Given the description of an element on the screen output the (x, y) to click on. 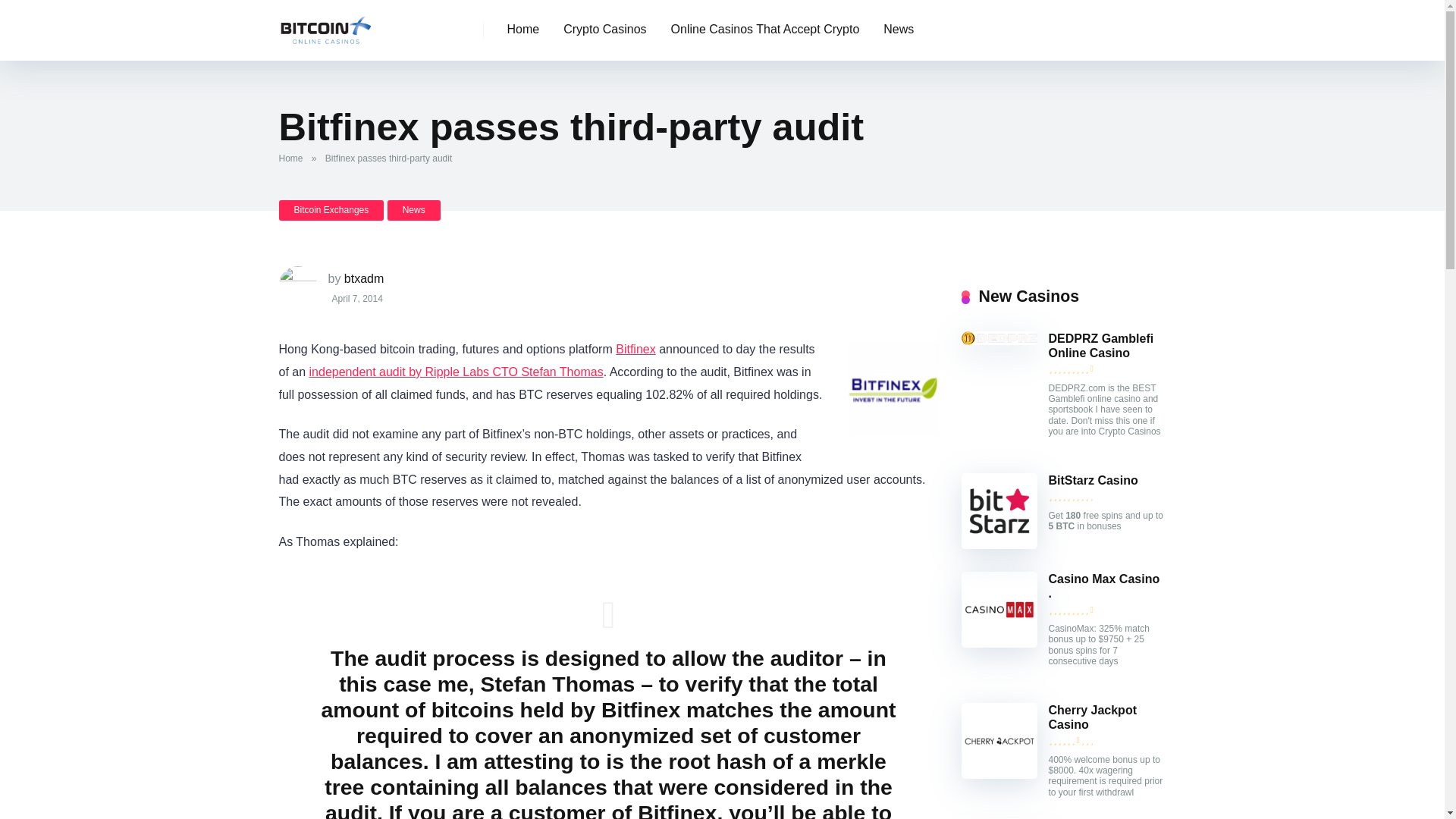
DEDPRZ Gamblefi Online Casino (1100, 346)
News (898, 30)
Cherry Jackpot Casino (1092, 717)
DEDPRZ Gamblefi Online Casino (1100, 346)
Posts by btxadm (363, 278)
DEDPRZ Gamblefi Online Casino (998, 340)
BitStarz Casino (998, 544)
Home (293, 158)
Cherry Jackpot Casino (1092, 717)
BitStarz Casino (1092, 480)
btxadm (363, 278)
independent audit by Ripple Labs CTO Stefan Thomas (456, 371)
Home (523, 30)
Online Casinos That Accept Crypto (765, 30)
Crypto Casinos (604, 30)
